Given the description of an element on the screen output the (x, y) to click on. 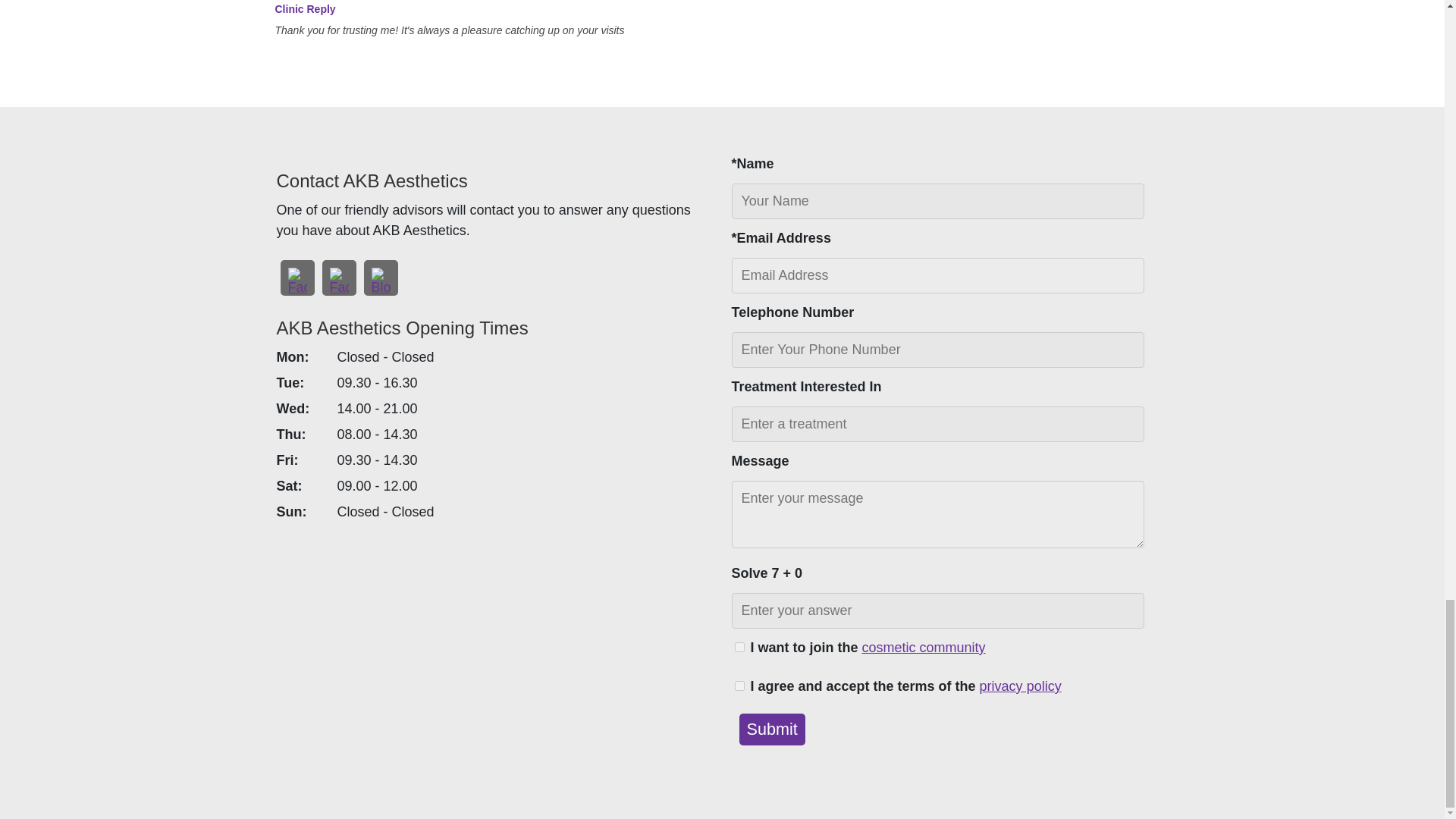
Submit (771, 729)
on (738, 685)
Submit (771, 729)
1 (738, 646)
privacy policy (1020, 686)
cosmetic community (923, 647)
